Given the description of an element on the screen output the (x, y) to click on. 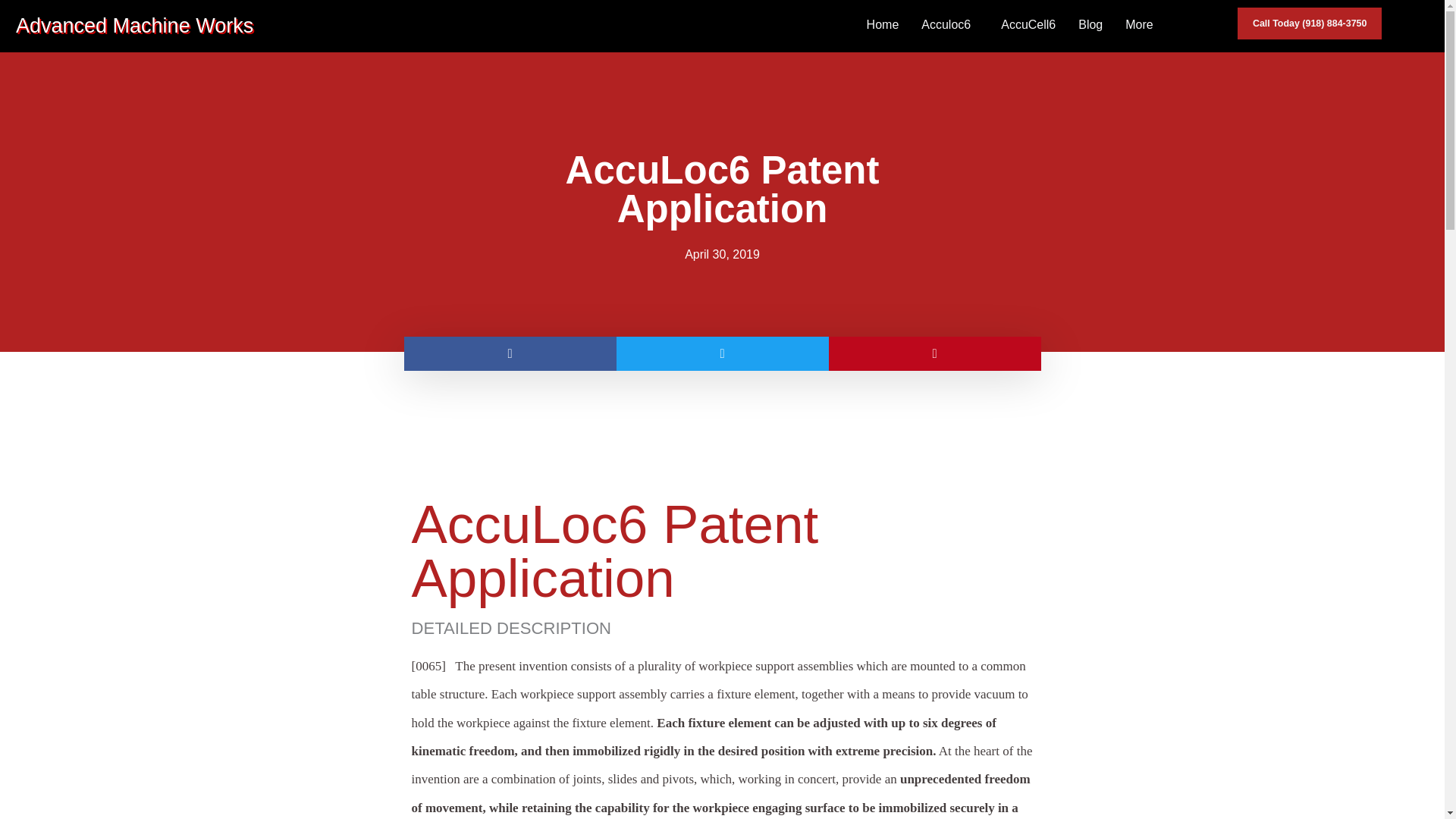
More (1142, 24)
April 30, 2019 (722, 254)
Home (883, 24)
AccuCell6 (1028, 24)
Acculoc6 (950, 24)
Blog (1090, 24)
